Given the description of an element on the screen output the (x, y) to click on. 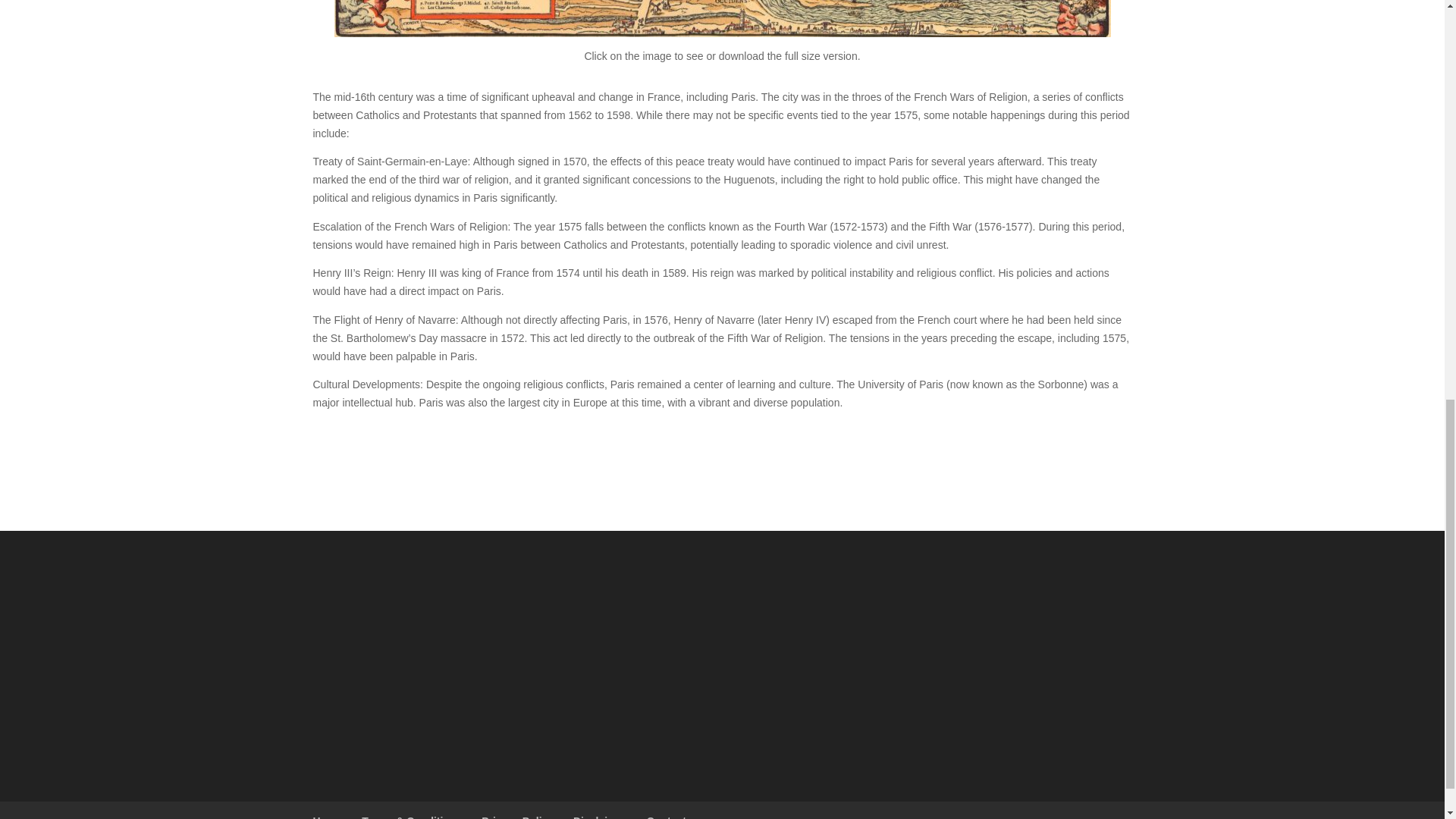
Contact (665, 816)
Home (327, 816)
Disclaimer (600, 816)
Privacy Policy (517, 816)
